Given the description of an element on the screen output the (x, y) to click on. 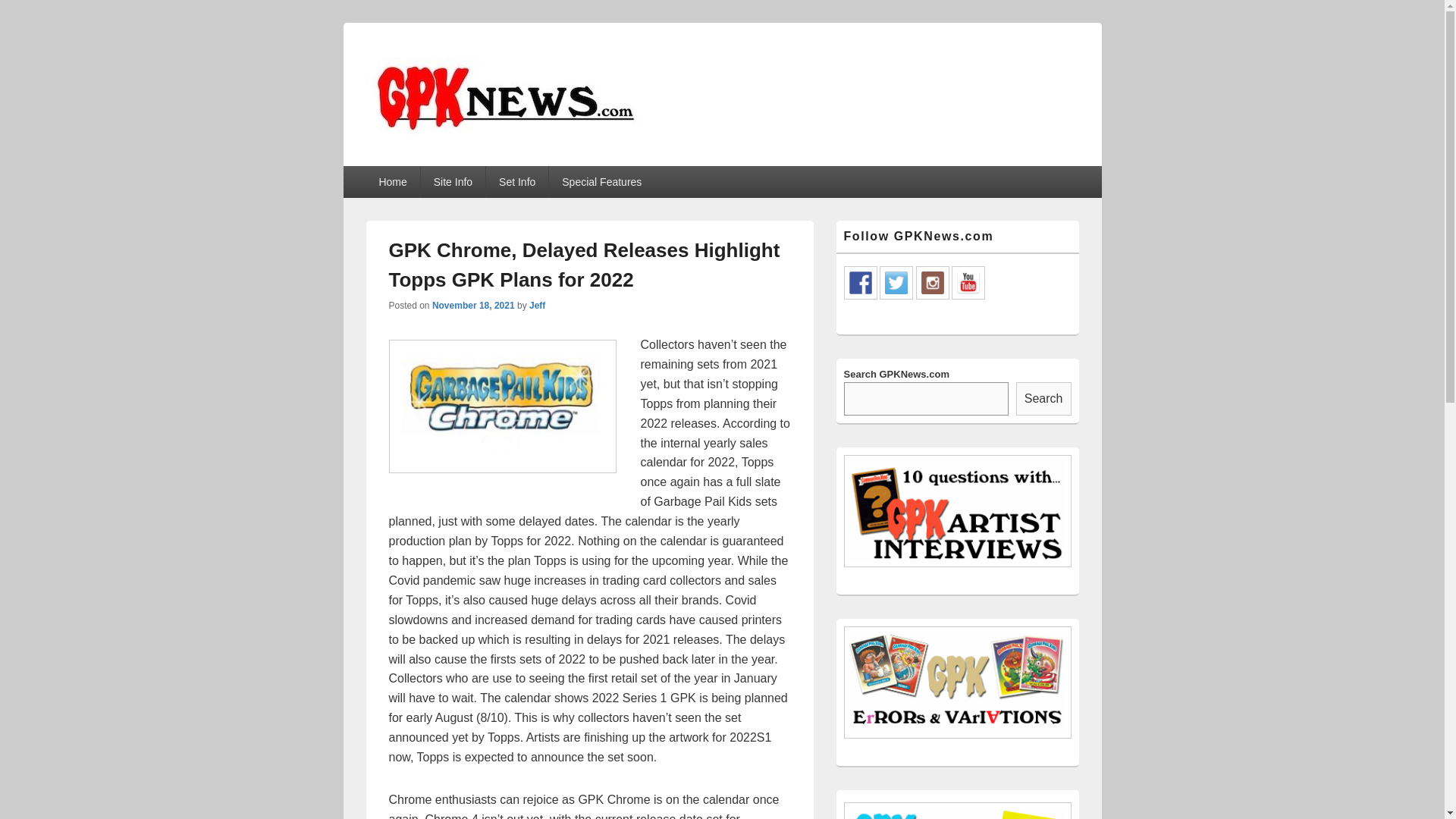
GPKNews.com (462, 160)
10:09 am (473, 305)
Site Info (452, 182)
Home (392, 182)
Set Info (517, 182)
View all posts by Jeff (536, 305)
